Given the description of an element on the screen output the (x, y) to click on. 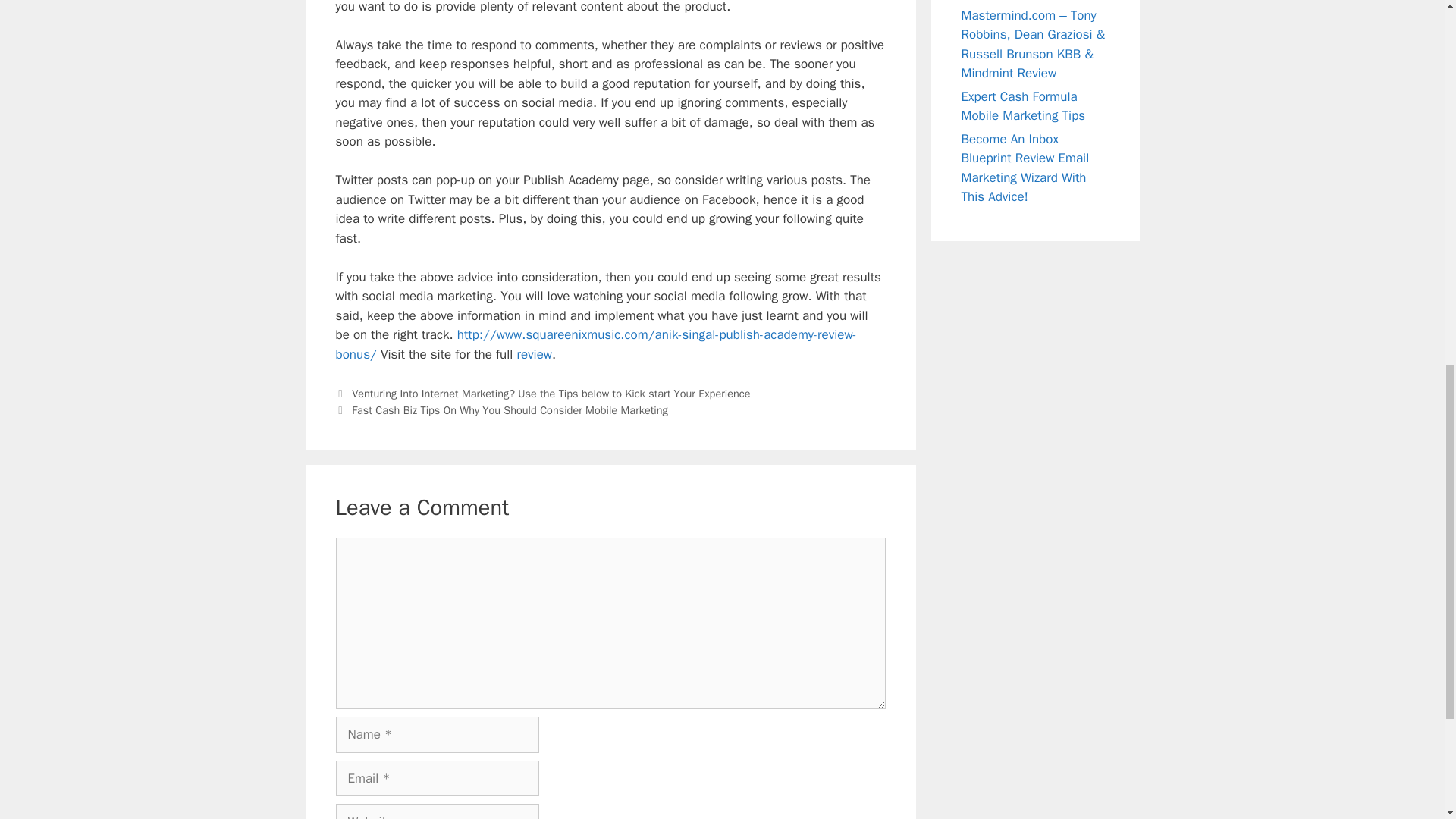
review (534, 354)
Expert Cash Formula Mobile Marketing Tips (1023, 106)
